Given the description of an element on the screen output the (x, y) to click on. 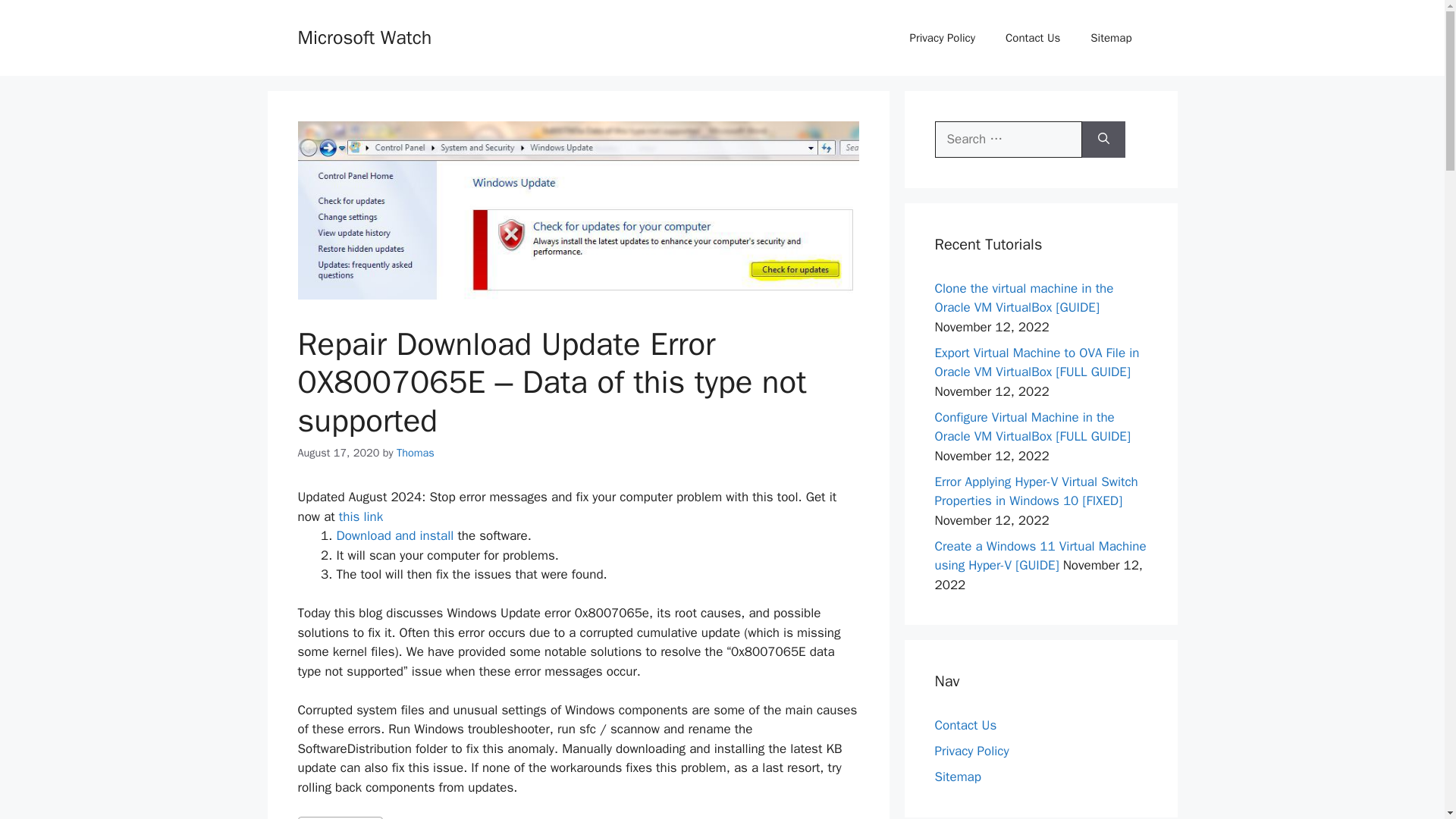
Search for: (1007, 139)
this link (360, 516)
Sitemap (956, 776)
Contact Us (964, 725)
Download and install (395, 535)
View all posts by Thomas (414, 452)
Privacy Policy (971, 750)
Microsoft Watch (363, 37)
Contact Us (1032, 37)
Privacy Policy (941, 37)
